Given the description of an element on the screen output the (x, y) to click on. 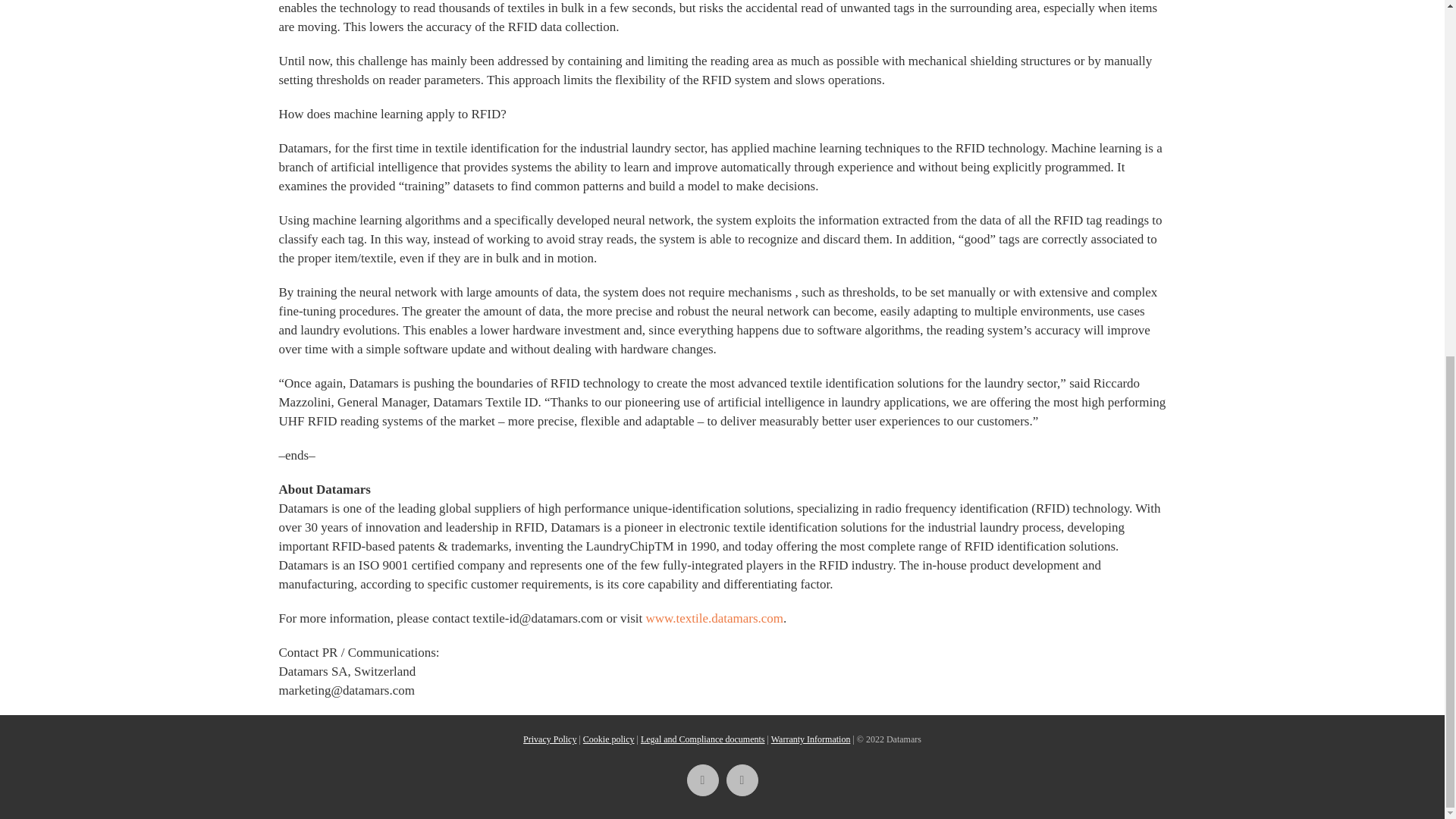
YouTube (742, 780)
LinkedIn (703, 780)
Warranty Information (810, 738)
Cookie policy (608, 738)
Privacy Policy (549, 738)
Policies (702, 738)
